Given the description of an element on the screen output the (x, y) to click on. 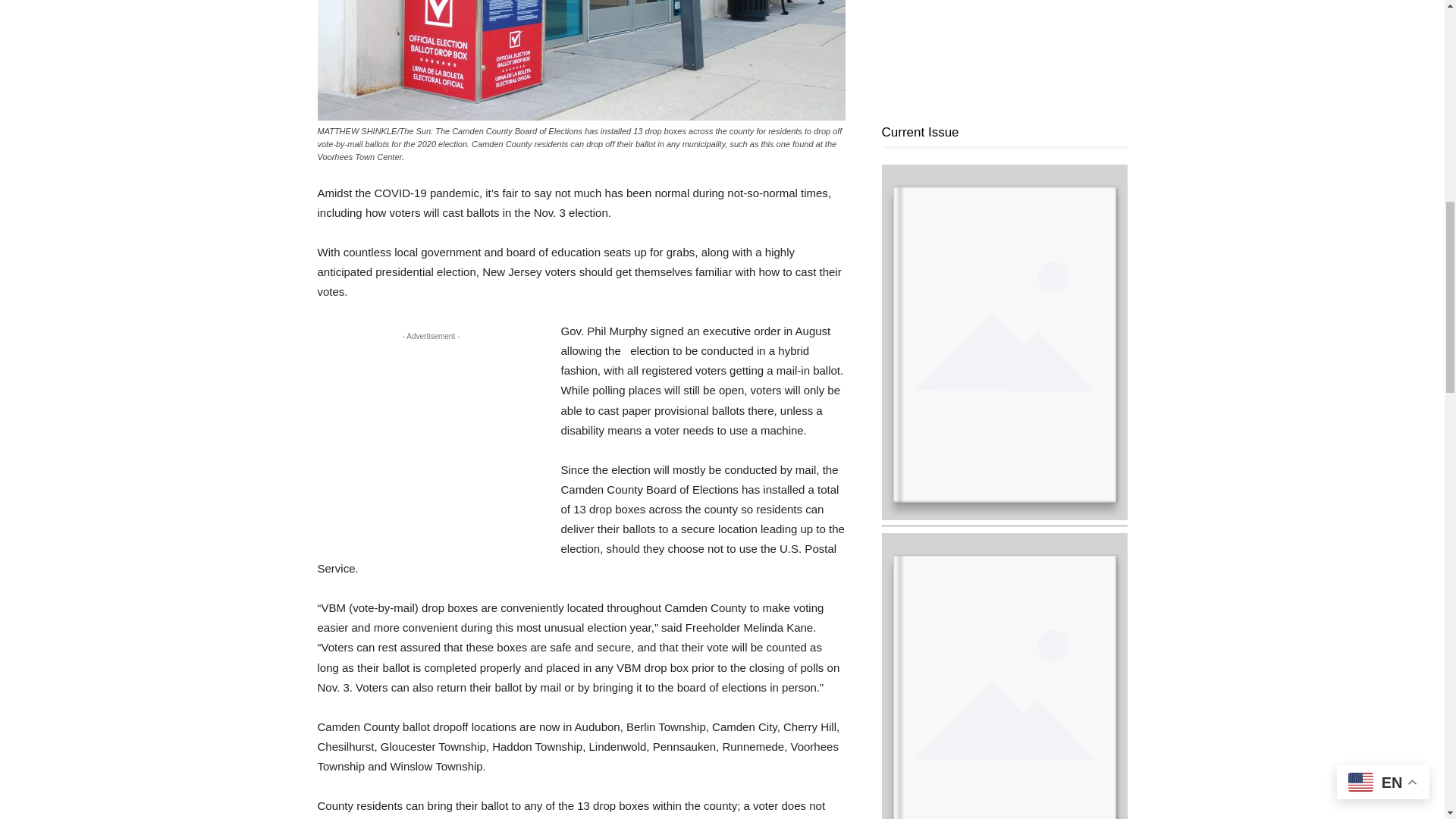
3rd party ad content (430, 443)
